Given the description of an element on the screen output the (x, y) to click on. 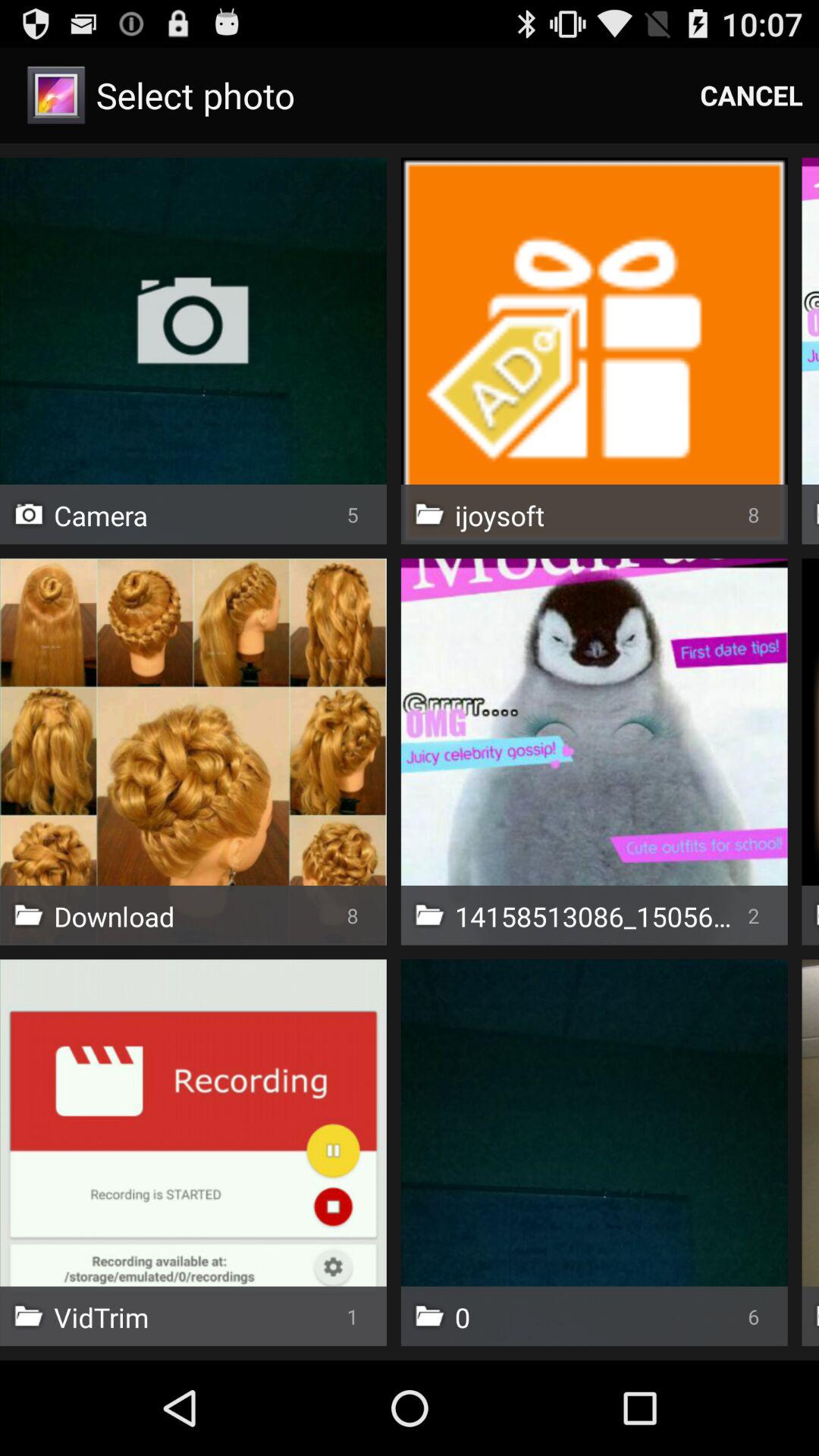
choose the icon at the top right corner (751, 95)
